Given the description of an element on the screen output the (x, y) to click on. 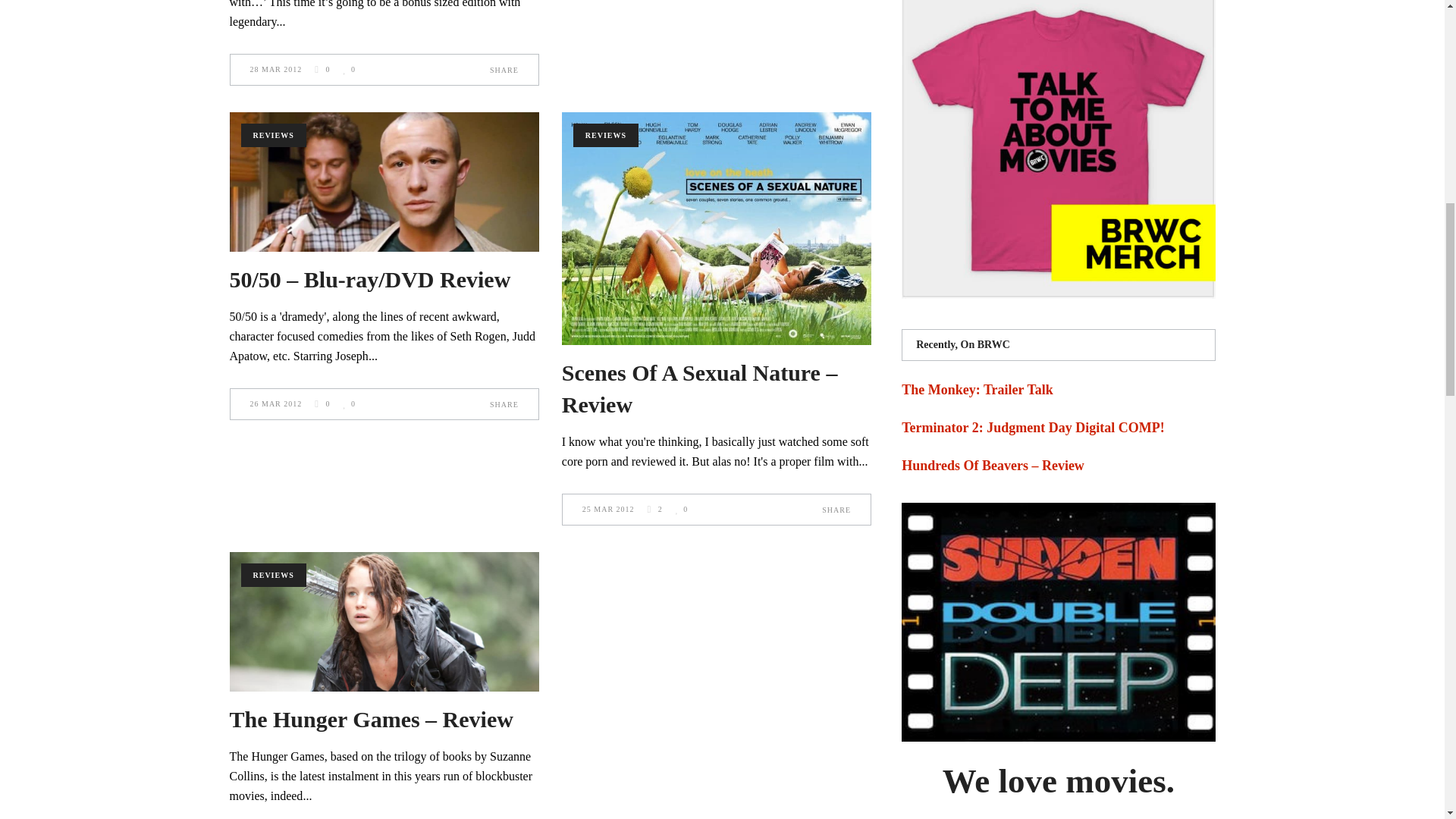
Like this (349, 403)
Like this (349, 69)
Like this (681, 509)
